Given the description of an element on the screen output the (x, y) to click on. 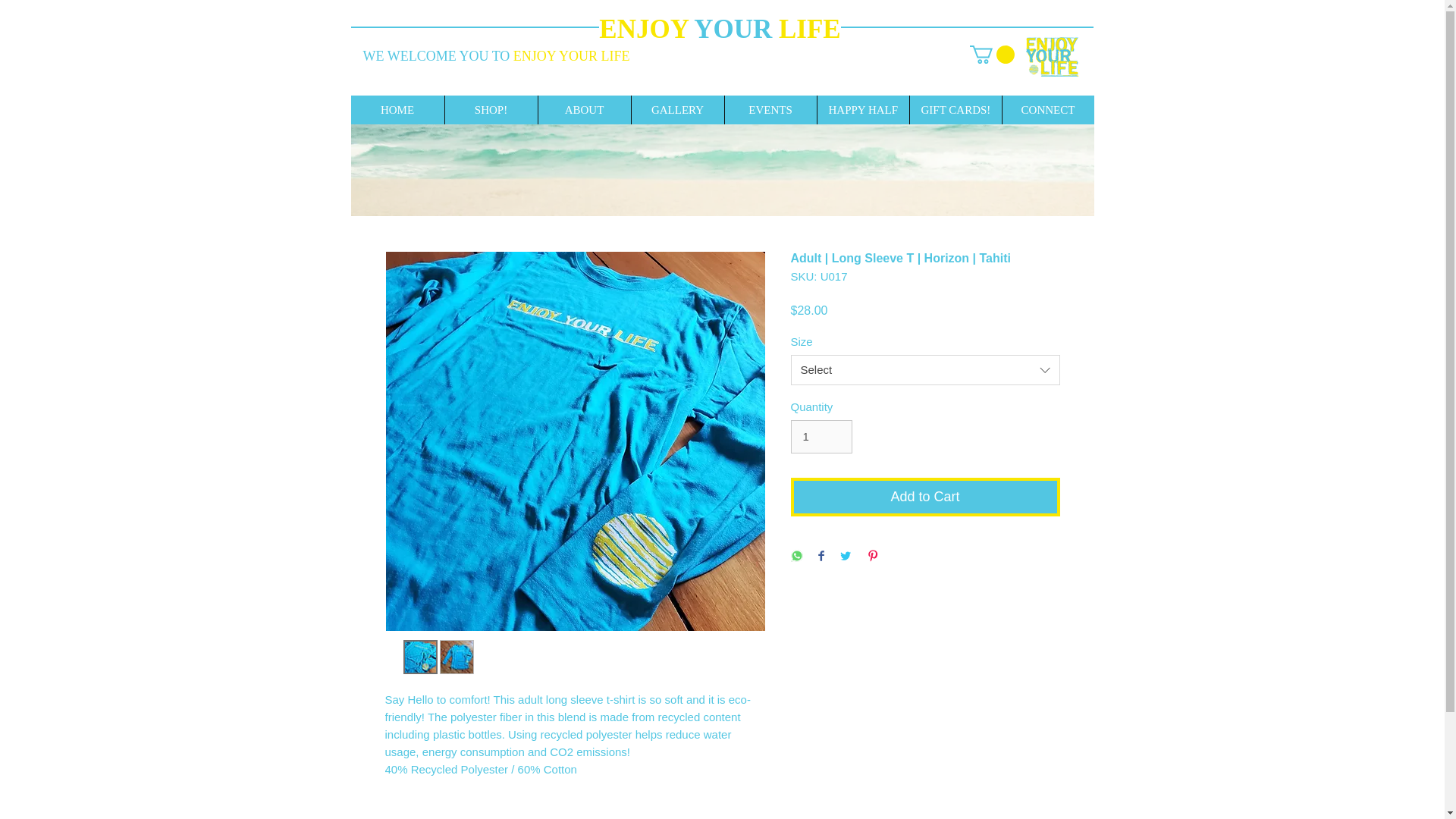
LIFE (809, 29)
CONNECT (1047, 109)
1 (820, 436)
YOUR (736, 29)
HOME (397, 109)
GALLERY (676, 109)
ABOUT (583, 109)
HAPPY HALF (861, 109)
EVENTS (769, 109)
SHOP! (490, 109)
